Given the description of an element on the screen output the (x, y) to click on. 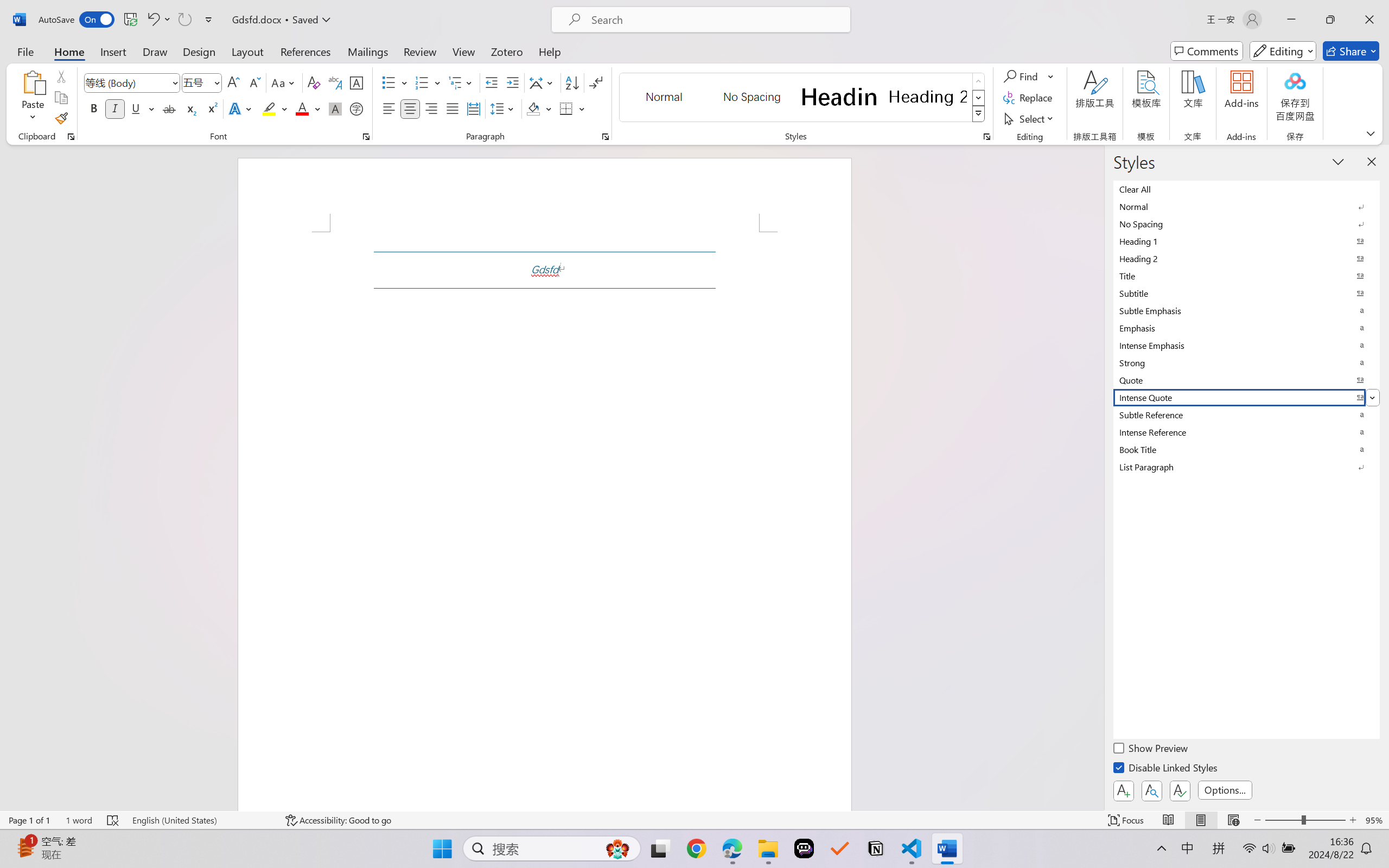
Distributed (473, 108)
Align Right (431, 108)
Intense Reference (1246, 431)
Class: NetUIScrollBar (1097, 477)
Can't Repeat (184, 19)
Subscript (190, 108)
Zoom 95% (1374, 819)
Subtle Reference (1246, 414)
Multilevel List (461, 82)
